Given the description of an element on the screen output the (x, y) to click on. 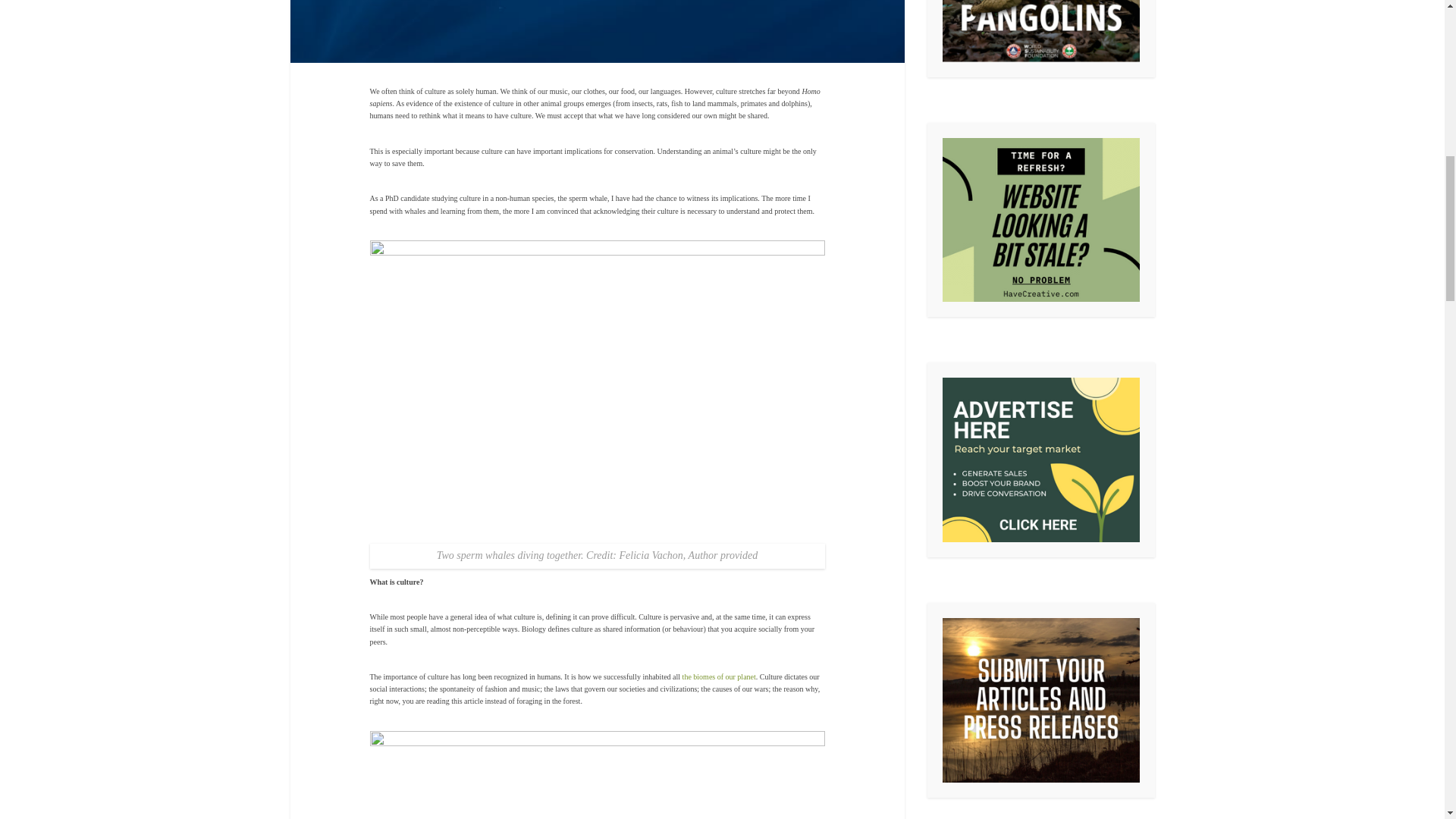
the biomes of our planet (718, 676)
